Given the description of an element on the screen output the (x, y) to click on. 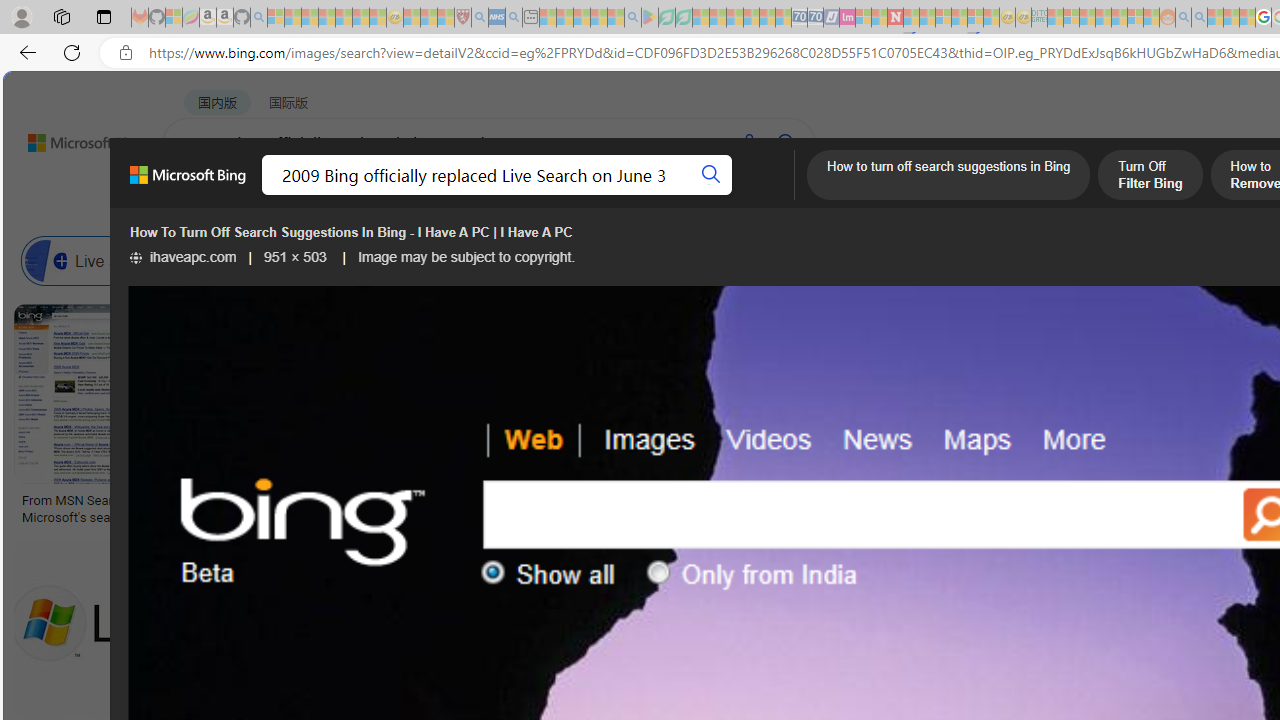
Microsoft Bing, Back to Bing search (188, 183)
Image may be subject to copyright. (467, 257)
Bing Logo and symbol, meaning, history, PNG, brand (418, 508)
Back to Bing search (73, 138)
Bing Picture Search Engine (395, 260)
Search using voice (748, 142)
